Given the description of an element on the screen output the (x, y) to click on. 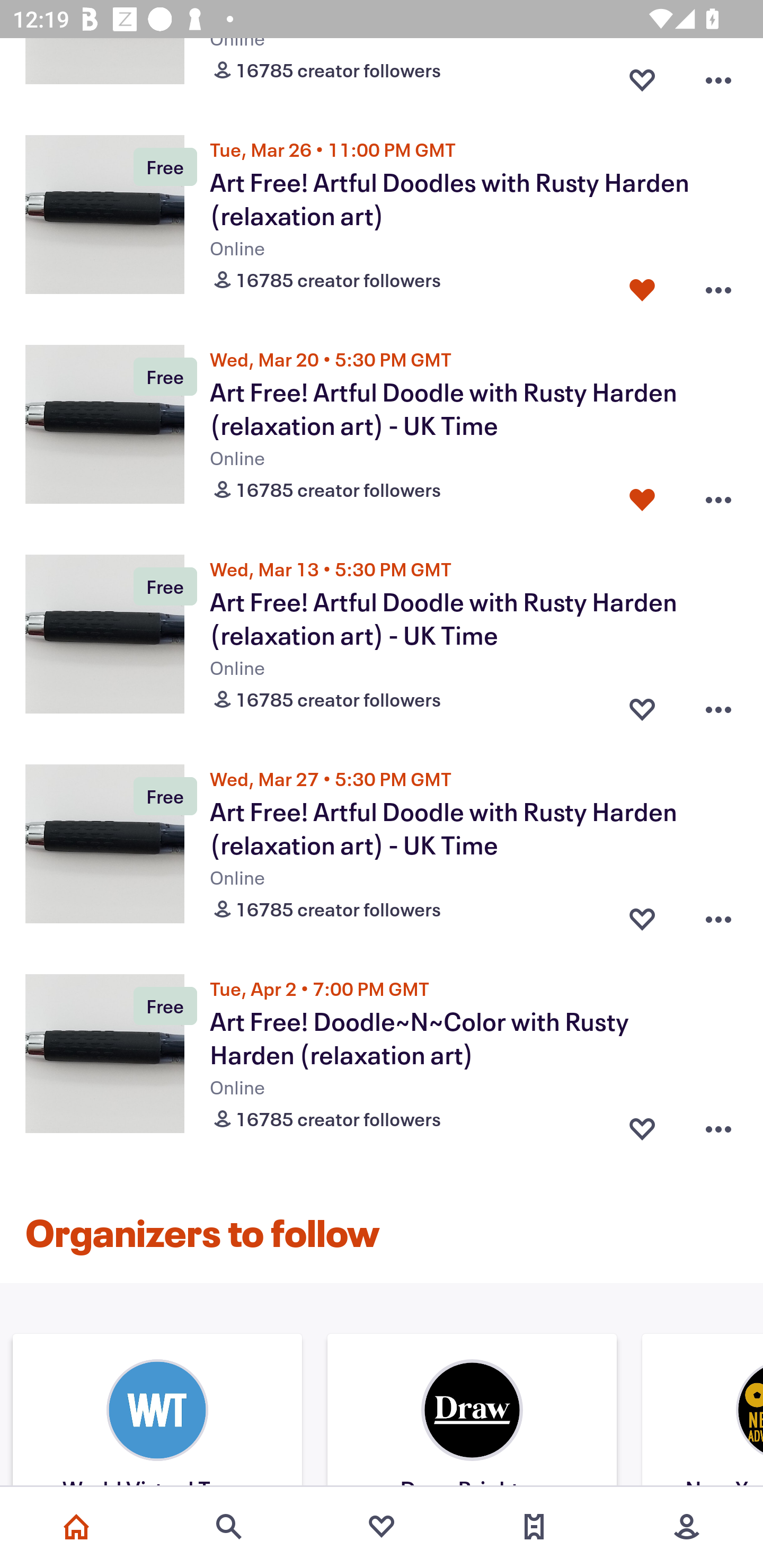
Favorite button (642, 75)
Overflow menu button (718, 75)
Favorite button (642, 285)
Overflow menu button (718, 285)
Favorite button (642, 495)
Overflow menu button (718, 495)
Favorite button (642, 704)
Overflow menu button (718, 704)
Favorite button (642, 914)
Overflow menu button (718, 914)
Favorite button (642, 1124)
Overflow menu button (718, 1124)
Organizer's image World Virtual Tours (157, 1412)
Organizer's image Draw Brighton (471, 1412)
Home (76, 1526)
Search events (228, 1526)
Favorites (381, 1526)
Tickets (533, 1526)
More (686, 1526)
